Given the description of an element on the screen output the (x, y) to click on. 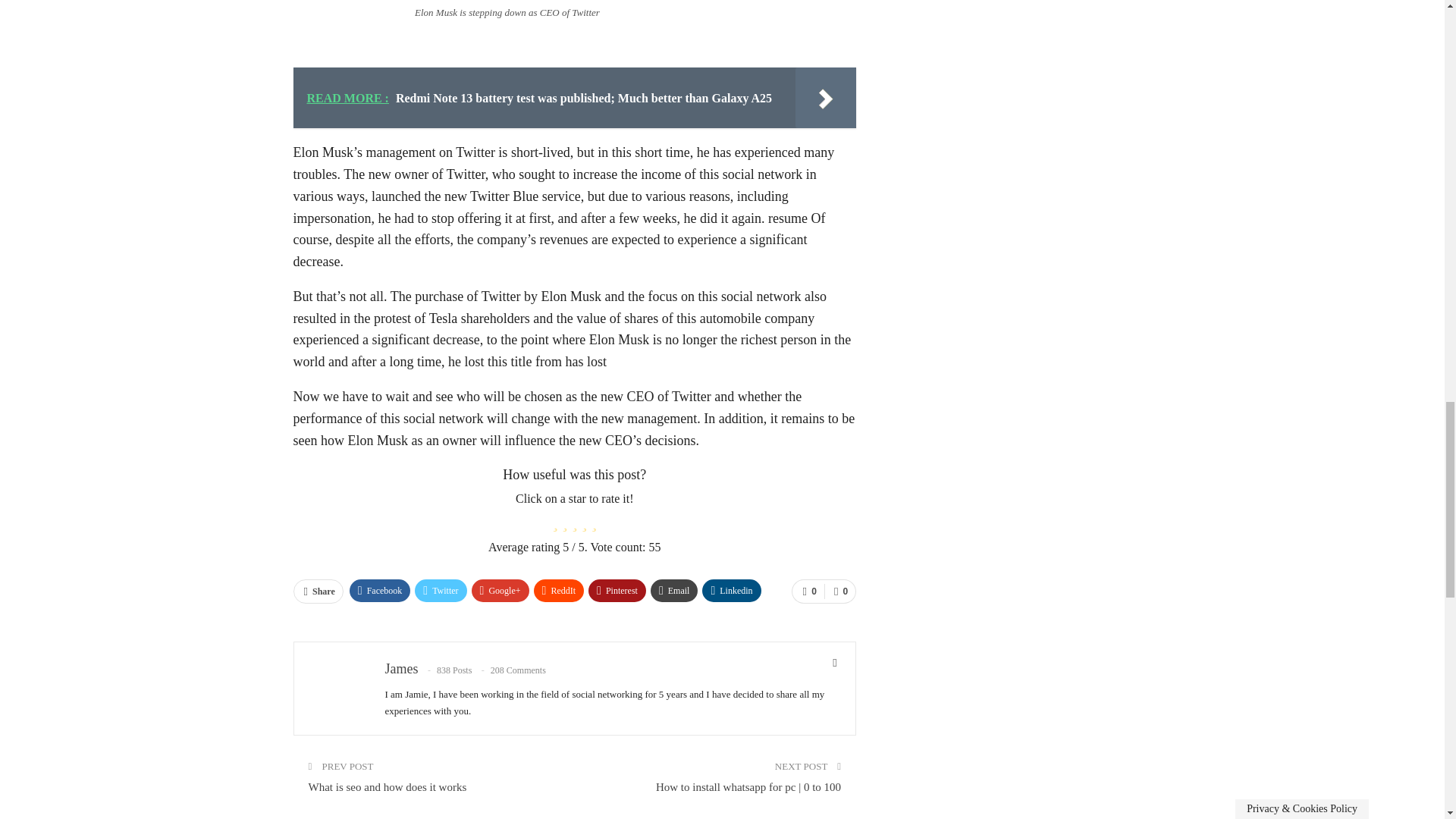
0 (840, 591)
Facebook (379, 590)
